Given the description of an element on the screen output the (x, y) to click on. 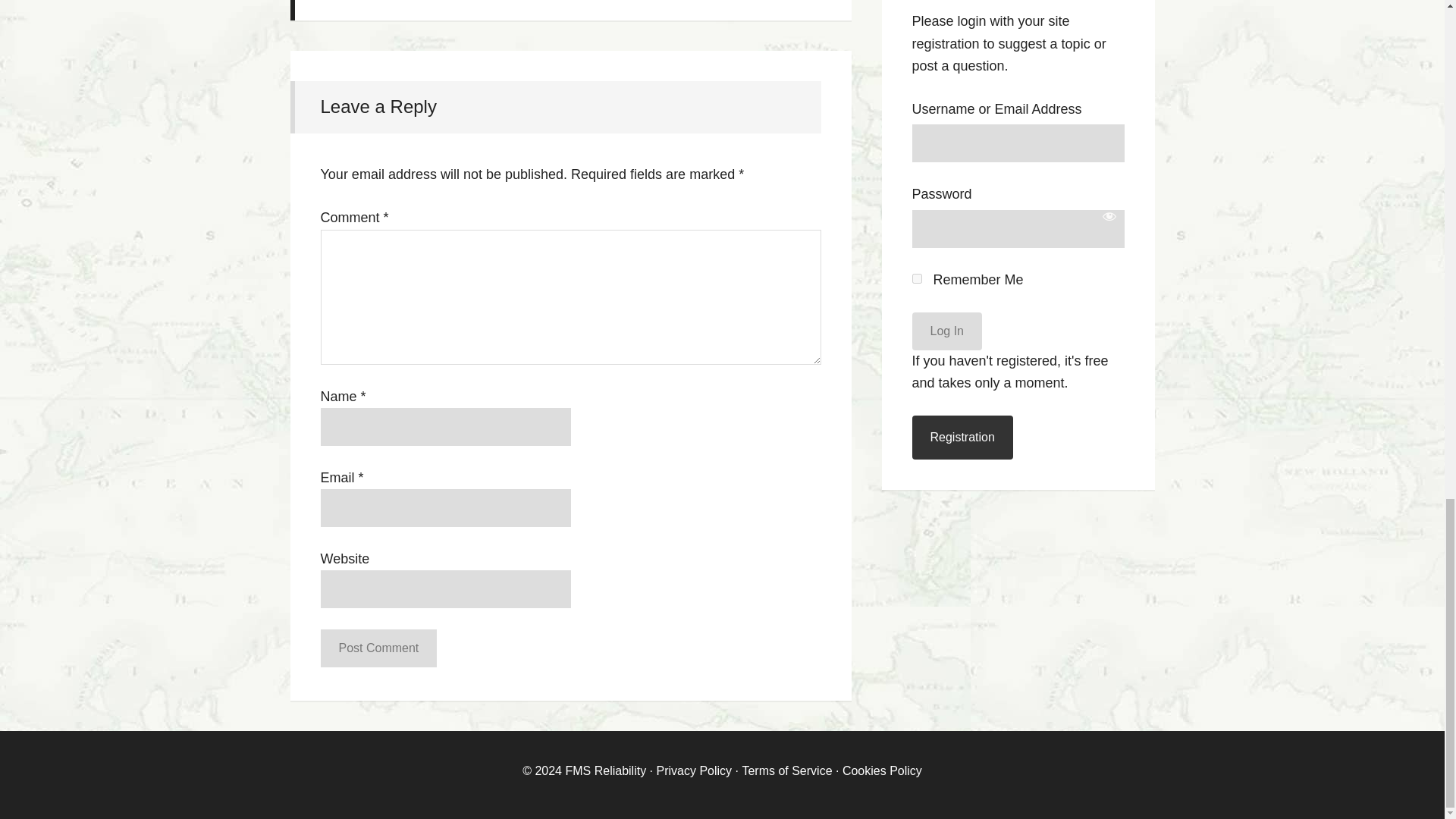
Post Comment (378, 648)
forever (916, 278)
Log In (946, 331)
